Given the description of an element on the screen output the (x, y) to click on. 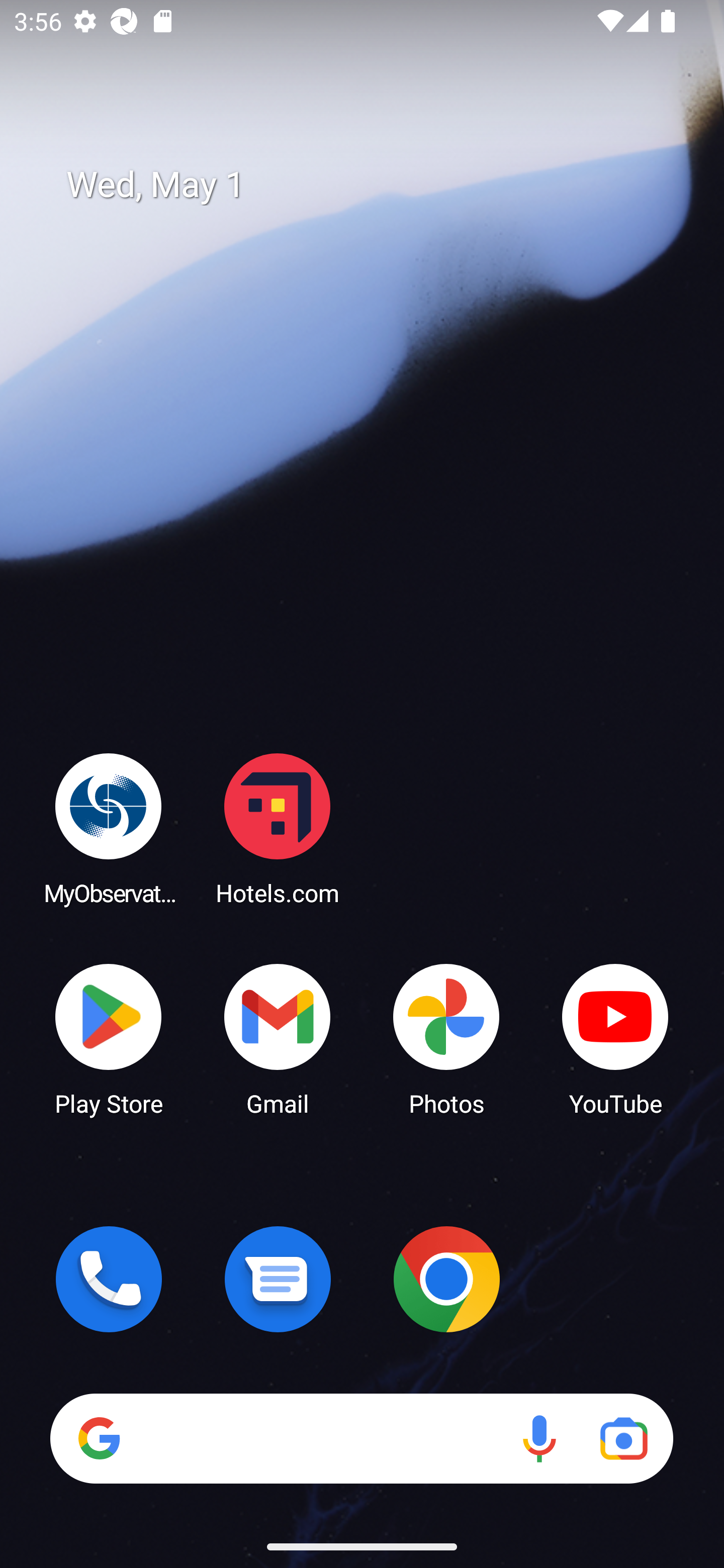
Wed, May 1 (375, 184)
MyObservatory (108, 828)
Hotels.com (277, 828)
Play Store (108, 1038)
Gmail (277, 1038)
Photos (445, 1038)
YouTube (615, 1038)
Phone (108, 1279)
Messages (277, 1279)
Chrome (446, 1279)
Search Voice search Google Lens (361, 1438)
Voice search (539, 1438)
Google Lens (623, 1438)
